Given the description of an element on the screen output the (x, y) to click on. 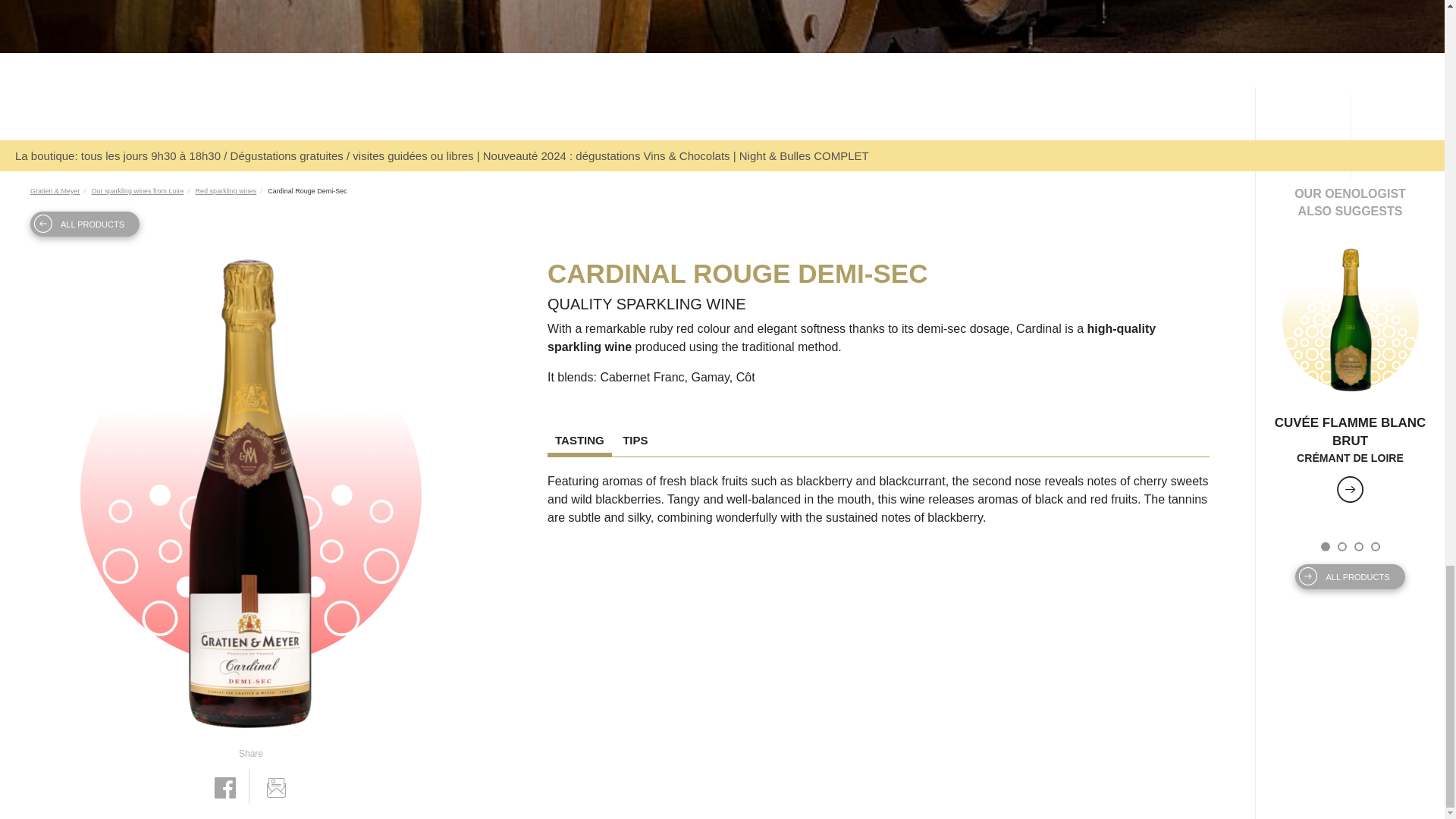
FR (710, 126)
Fr (710, 126)
MENU (68, 96)
Our sparkling wines from Loire (137, 190)
Red sparkling wines (226, 190)
En (733, 126)
ALL PRODUCTS (84, 223)
EN (733, 126)
